Given the description of an element on the screen output the (x, y) to click on. 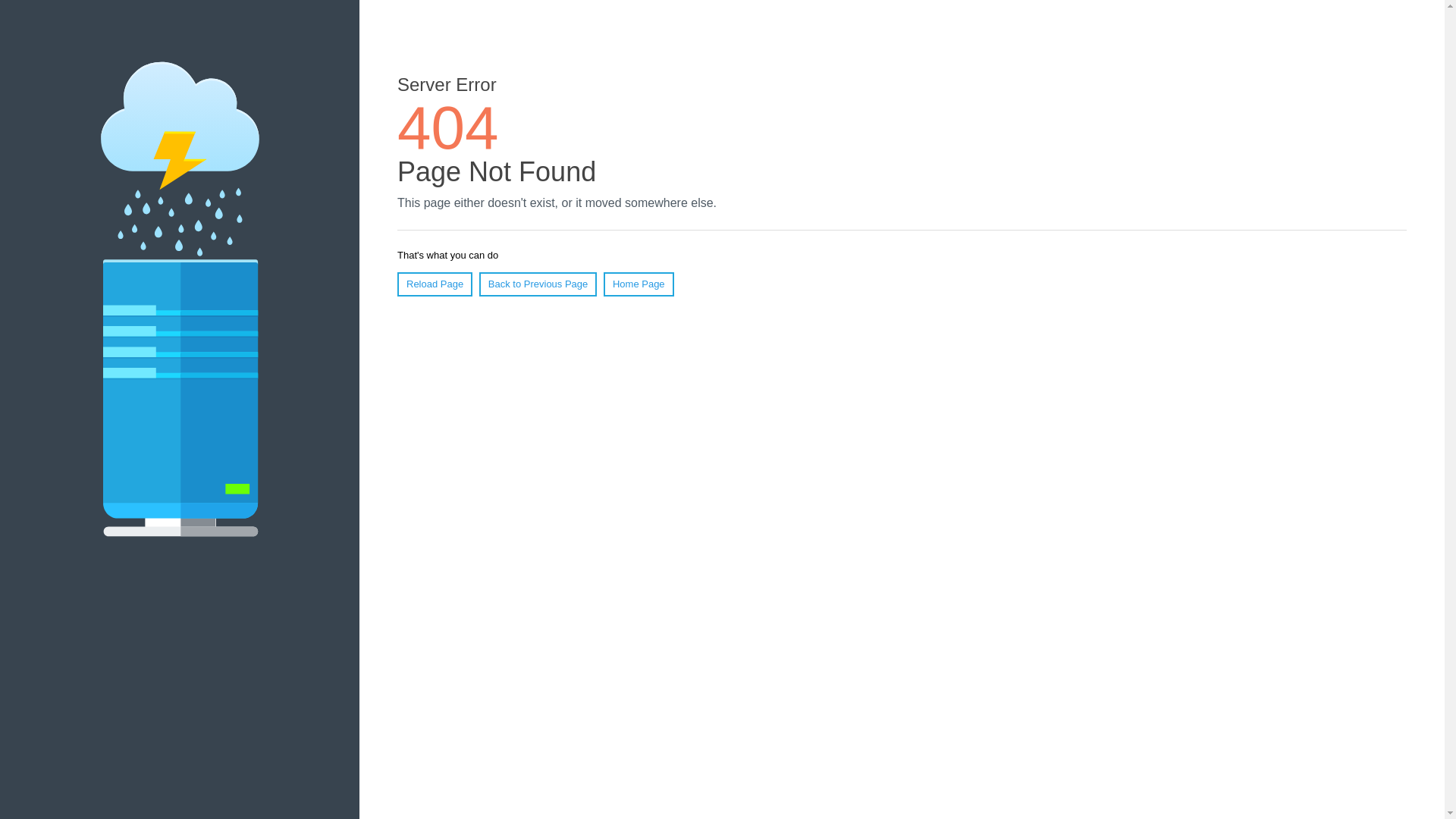
Reload Page Element type: text (434, 284)
Back to Previous Page Element type: text (538, 284)
Home Page Element type: text (638, 284)
